Given the description of an element on the screen output the (x, y) to click on. 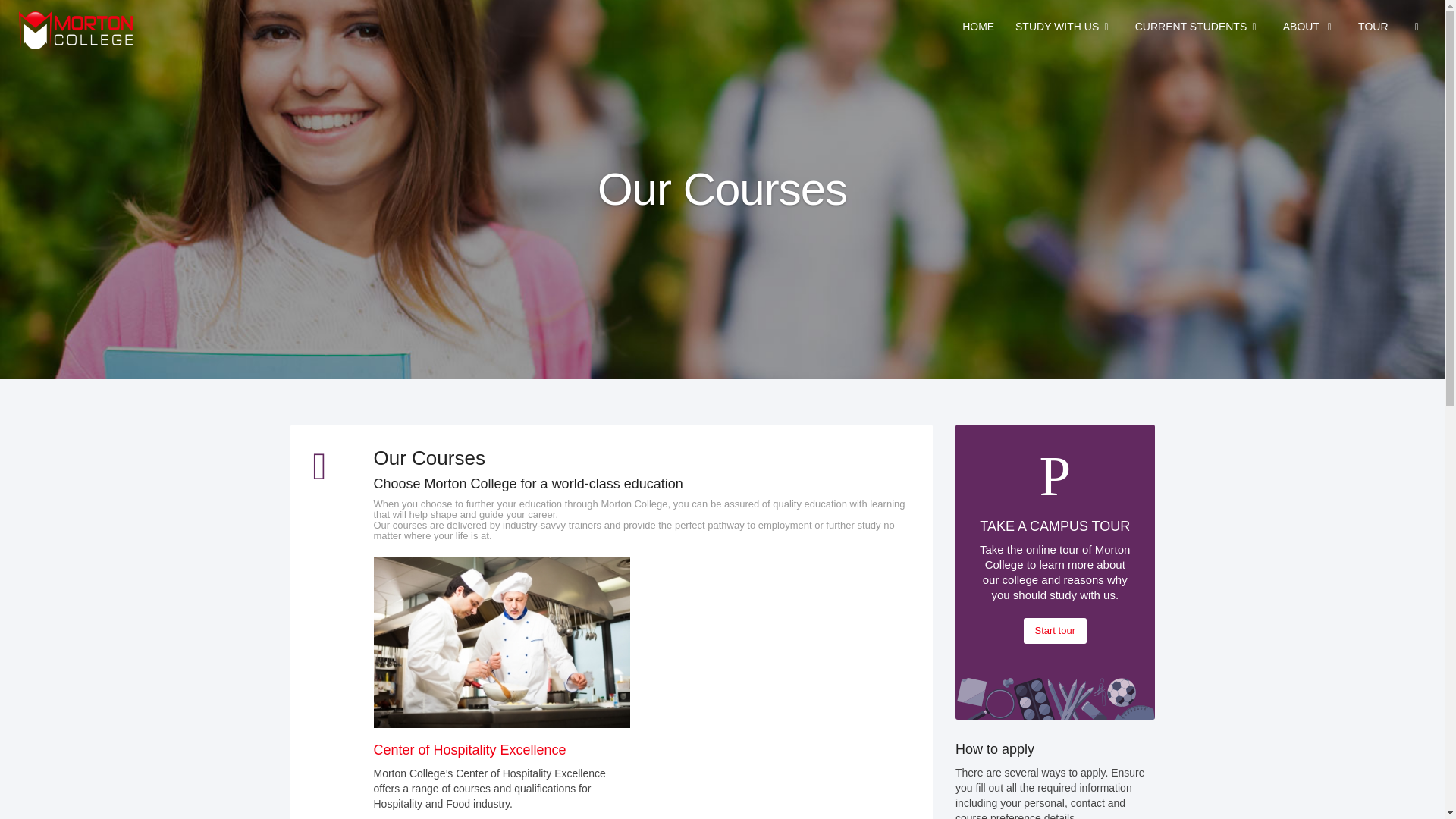
Center of Hospitality Excellence (469, 749)
TOUR (1372, 26)
ABOUT (1309, 26)
STUDY WITH US (1064, 26)
HOME (978, 26)
CURRENT STUDENTS (1198, 26)
Start tour (1054, 630)
